Given the description of an element on the screen output the (x, y) to click on. 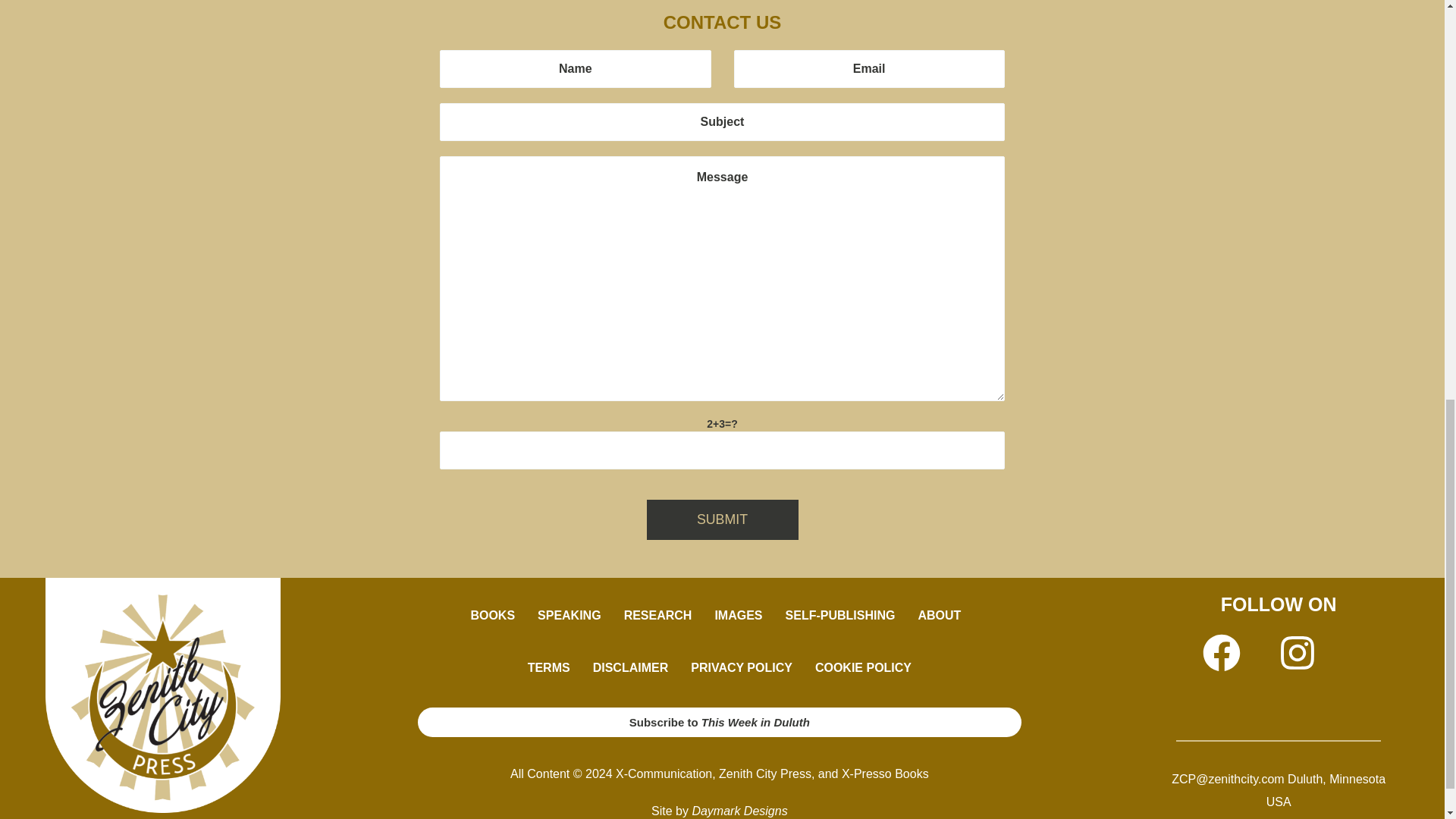
TERMS (548, 667)
Submit (721, 519)
SELF-PUBLISHING (840, 615)
COOKIE POLICY (863, 667)
Submit (721, 519)
IMAGES (738, 615)
SPEAKING (568, 615)
RESEARCH (657, 615)
ABOUT (942, 615)
